Given the description of an element on the screen output the (x, y) to click on. 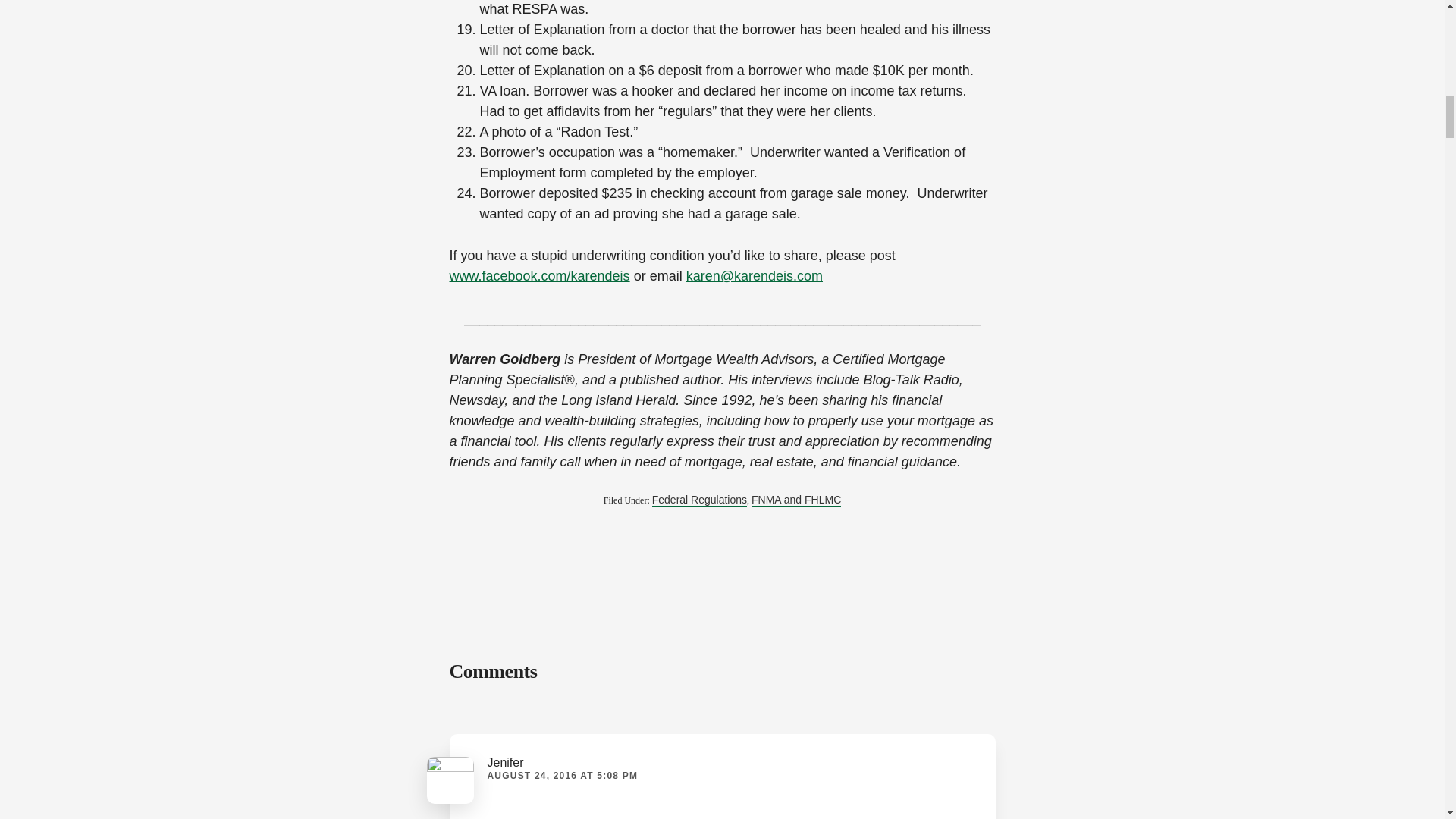
FNMA and FHLMC (796, 499)
AUGUST 24, 2016 AT 5:08 PM (561, 775)
Federal Regulations (699, 499)
